Given the description of an element on the screen output the (x, y) to click on. 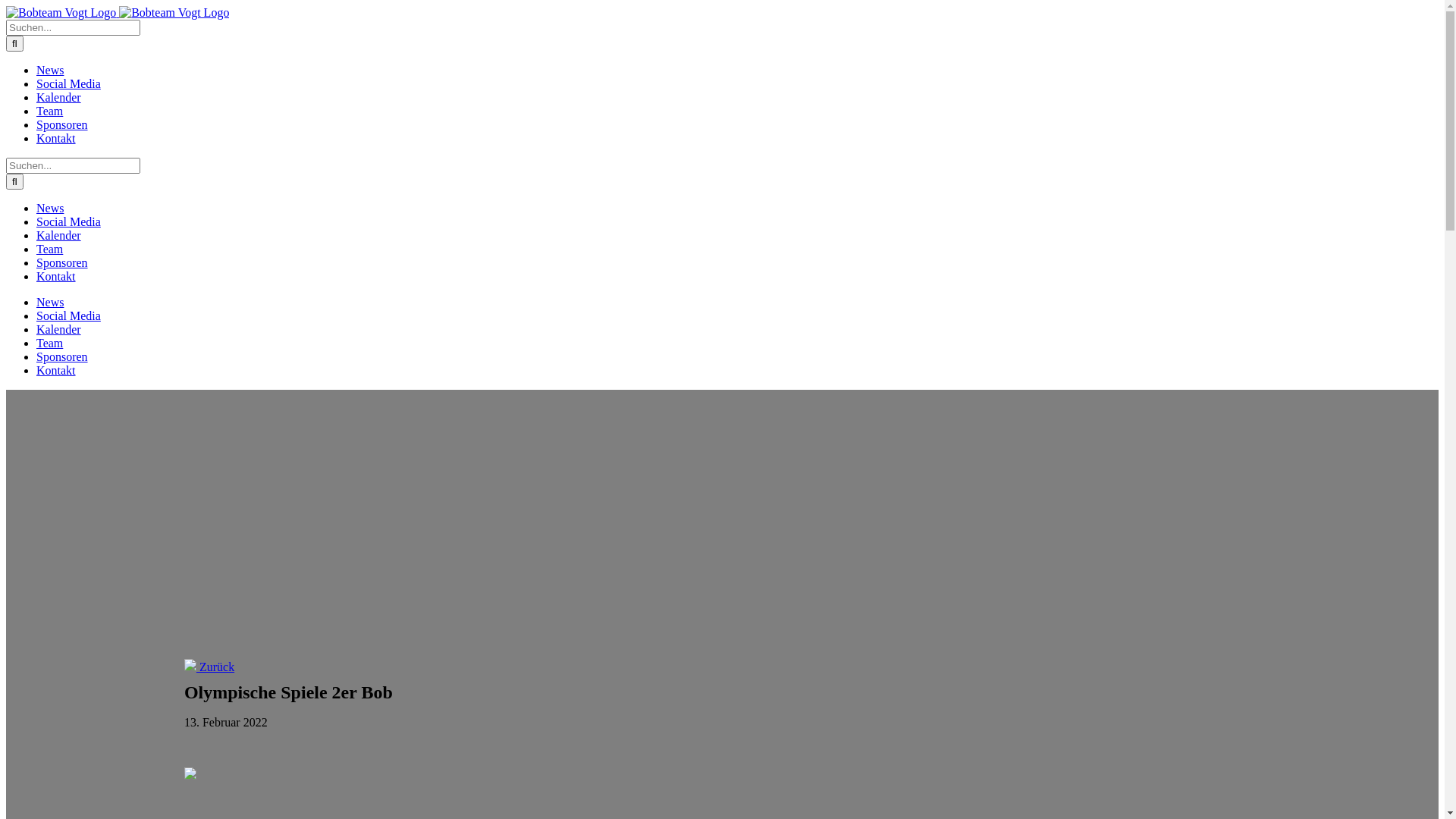
News Element type: text (49, 207)
Sponsoren Element type: text (61, 124)
Kontakt Element type: text (55, 275)
Sponsoren Element type: text (61, 262)
Kalender Element type: text (58, 235)
Team Element type: text (49, 248)
Zum Inhalt springen Element type: text (5, 5)
News Element type: text (49, 69)
Kontakt Element type: text (55, 370)
Kontakt Element type: text (55, 137)
News Element type: text (49, 301)
Social Media Element type: text (68, 221)
Sponsoren Element type: text (61, 356)
Team Element type: text (49, 342)
Team Element type: text (49, 110)
Social Media Element type: text (68, 315)
Kalender Element type: text (58, 329)
Kalender Element type: text (58, 97)
Social Media Element type: text (68, 83)
